Given the description of an element on the screen output the (x, y) to click on. 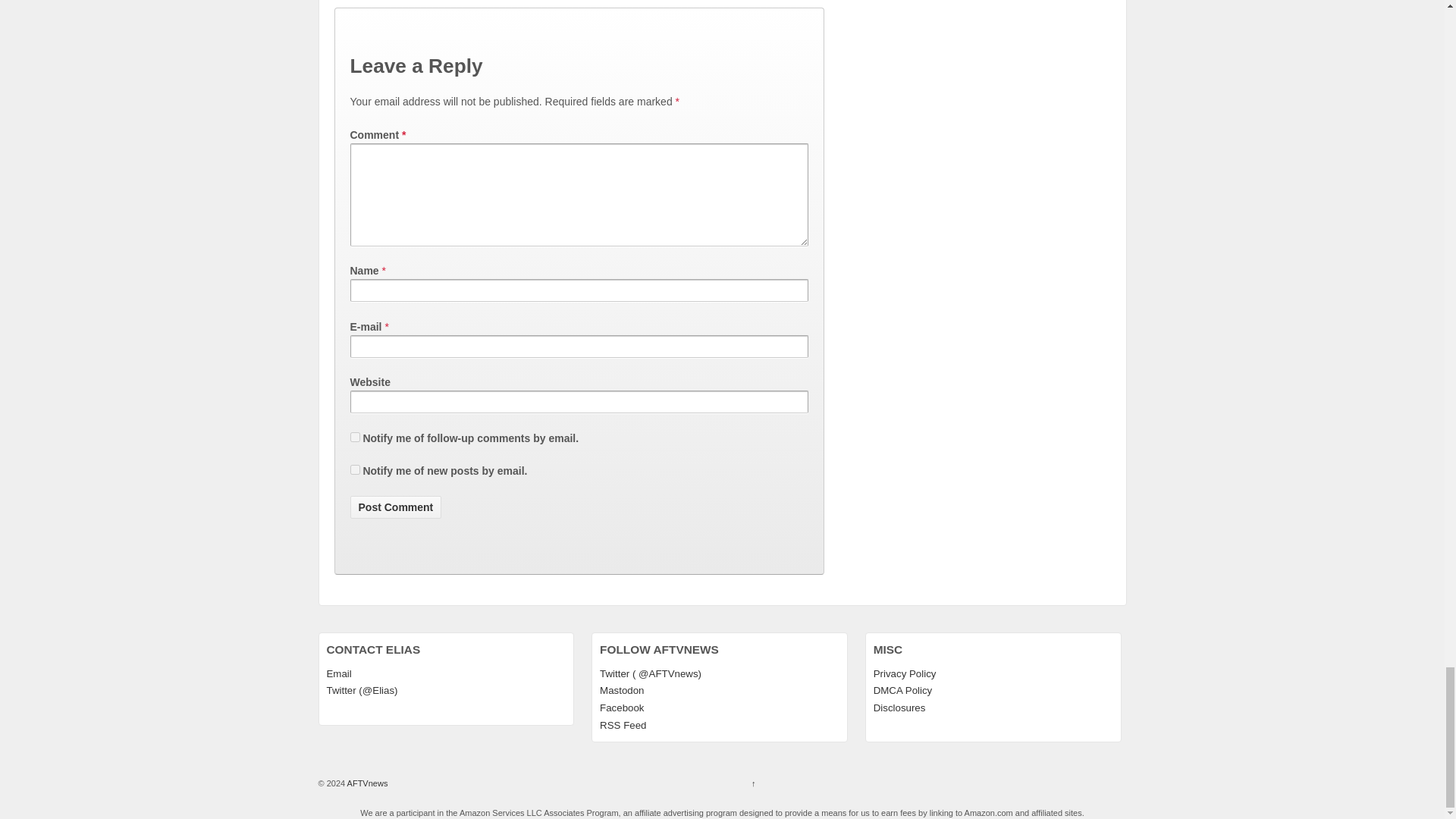
subscribe (354, 437)
Post Comment (396, 507)
subscribe (354, 470)
